Given the description of an element on the screen output the (x, y) to click on. 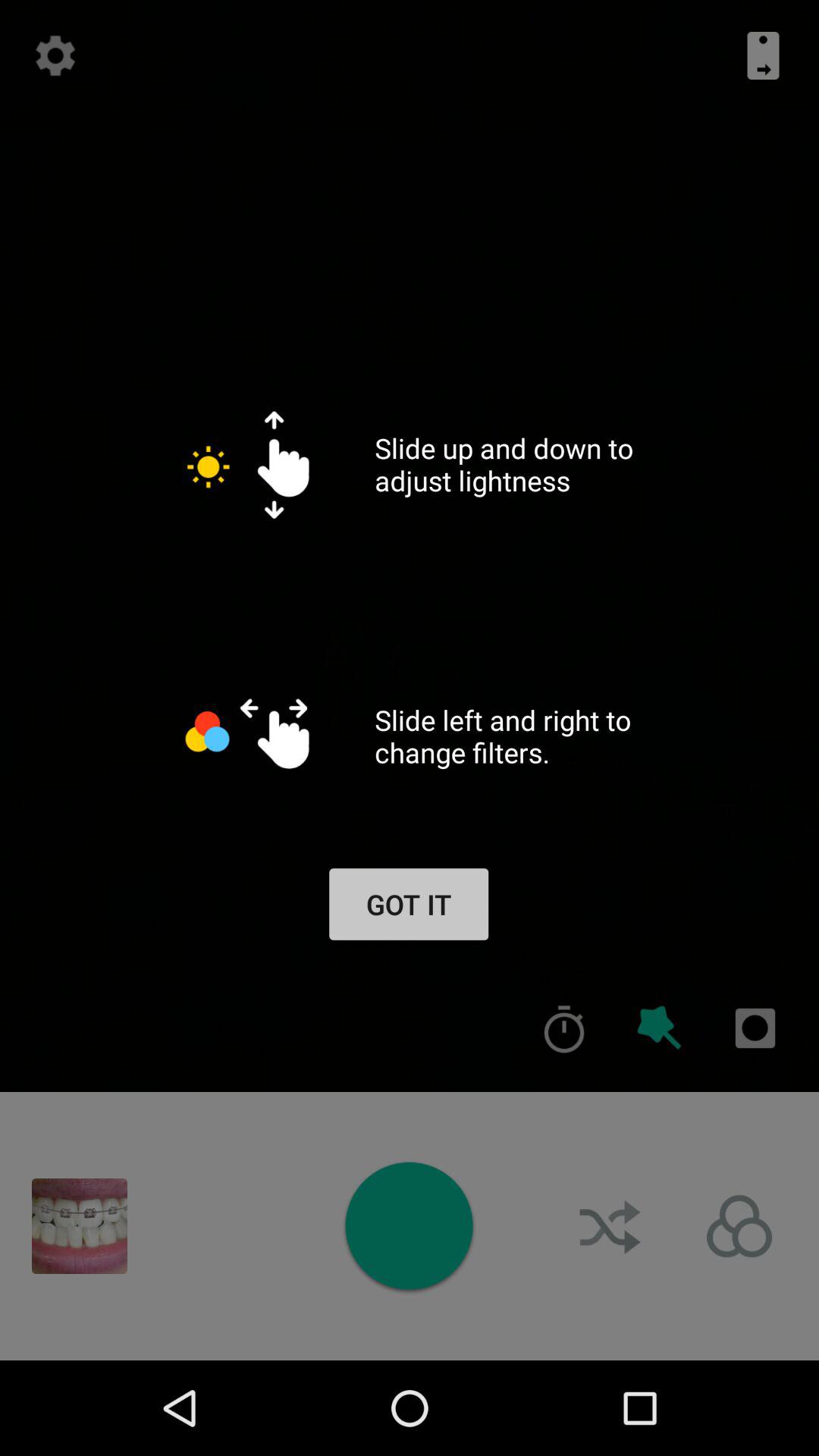
watch (408, 1225)
